Given the description of an element on the screen output the (x, y) to click on. 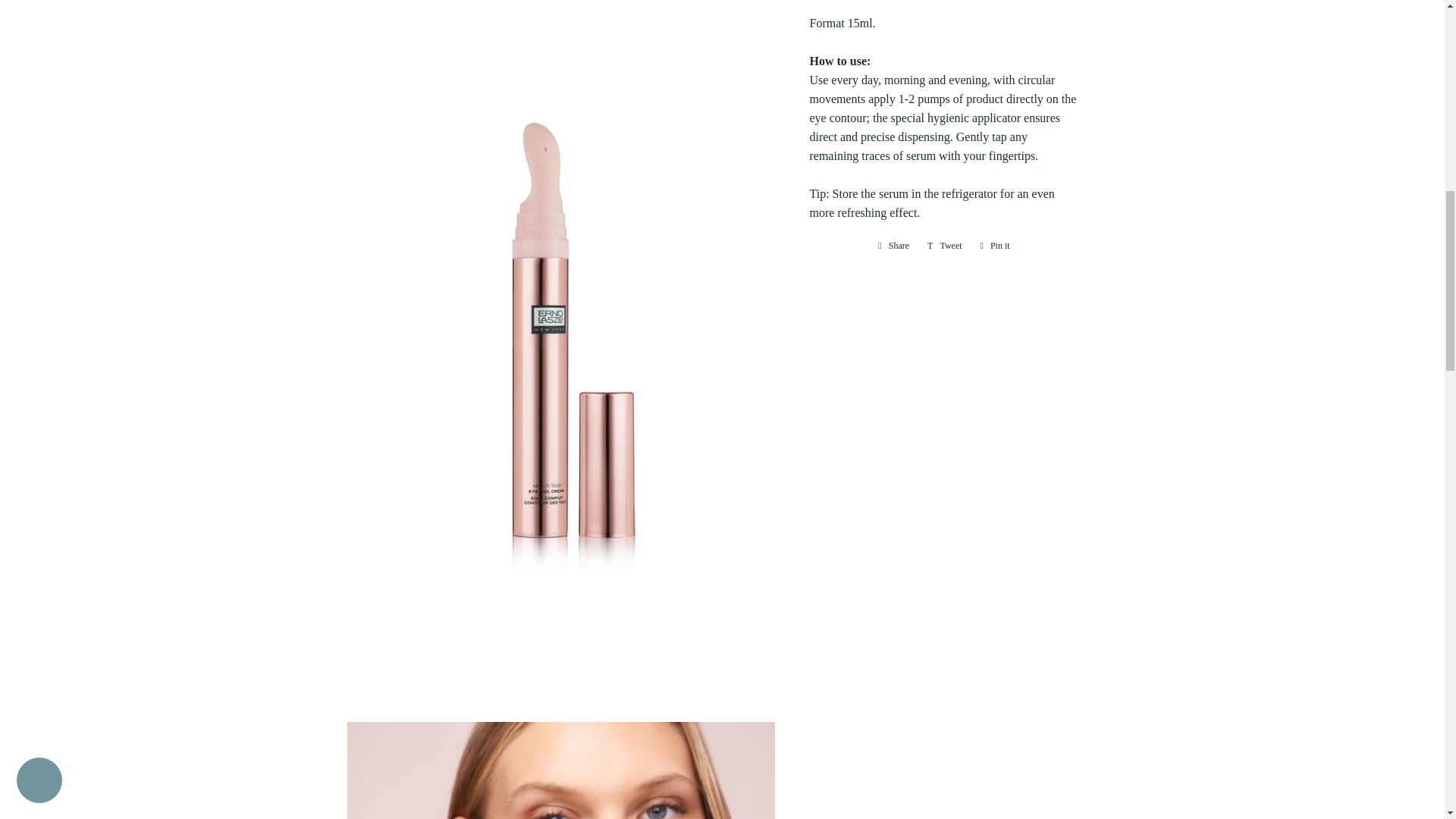
Share on Facebook (893, 245)
Tweet on Twitter (944, 245)
Pin on Pinterest (994, 245)
